Given the description of an element on the screen output the (x, y) to click on. 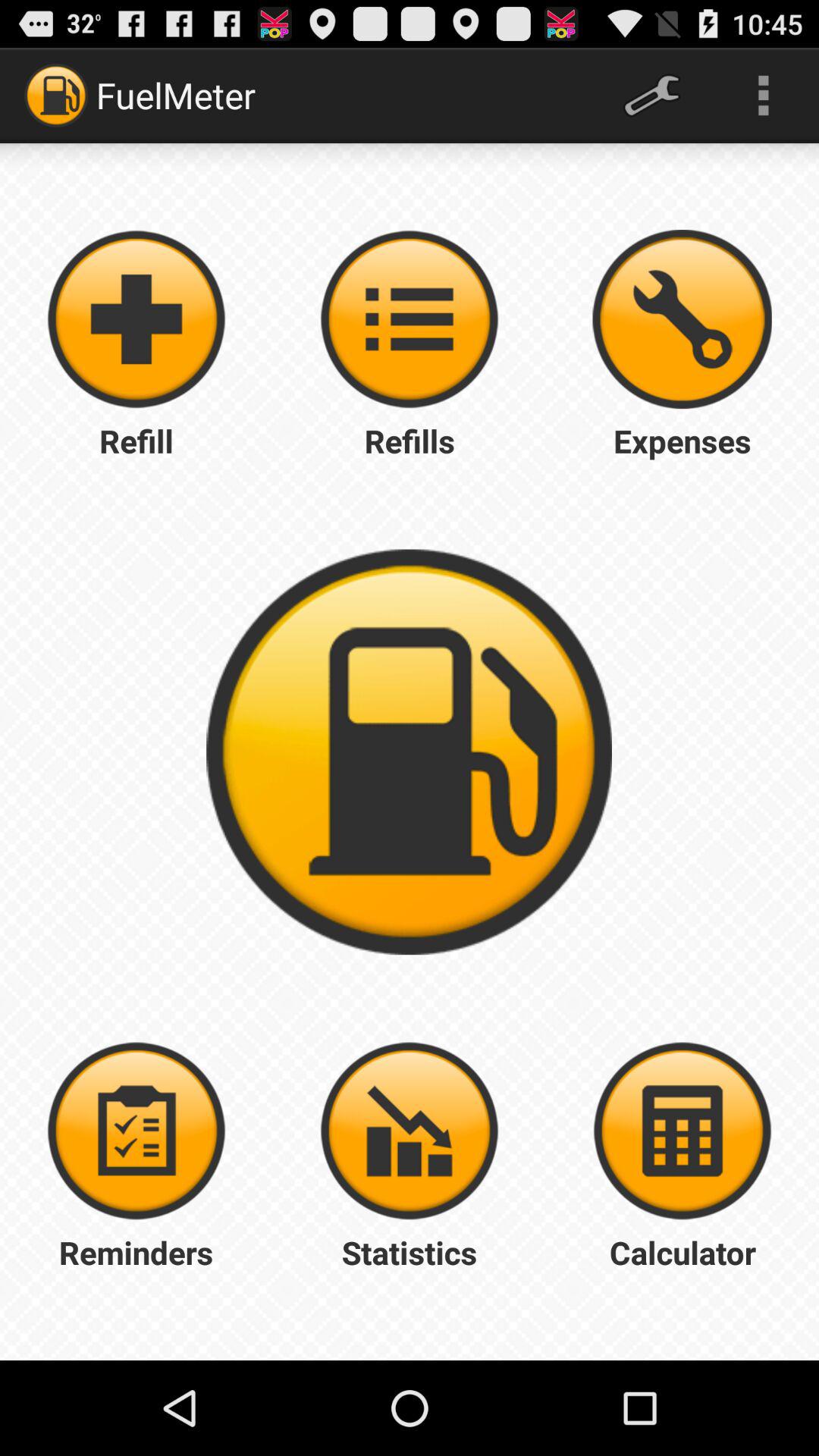
open trip calculator (682, 1130)
